Given the description of an element on the screen output the (x, y) to click on. 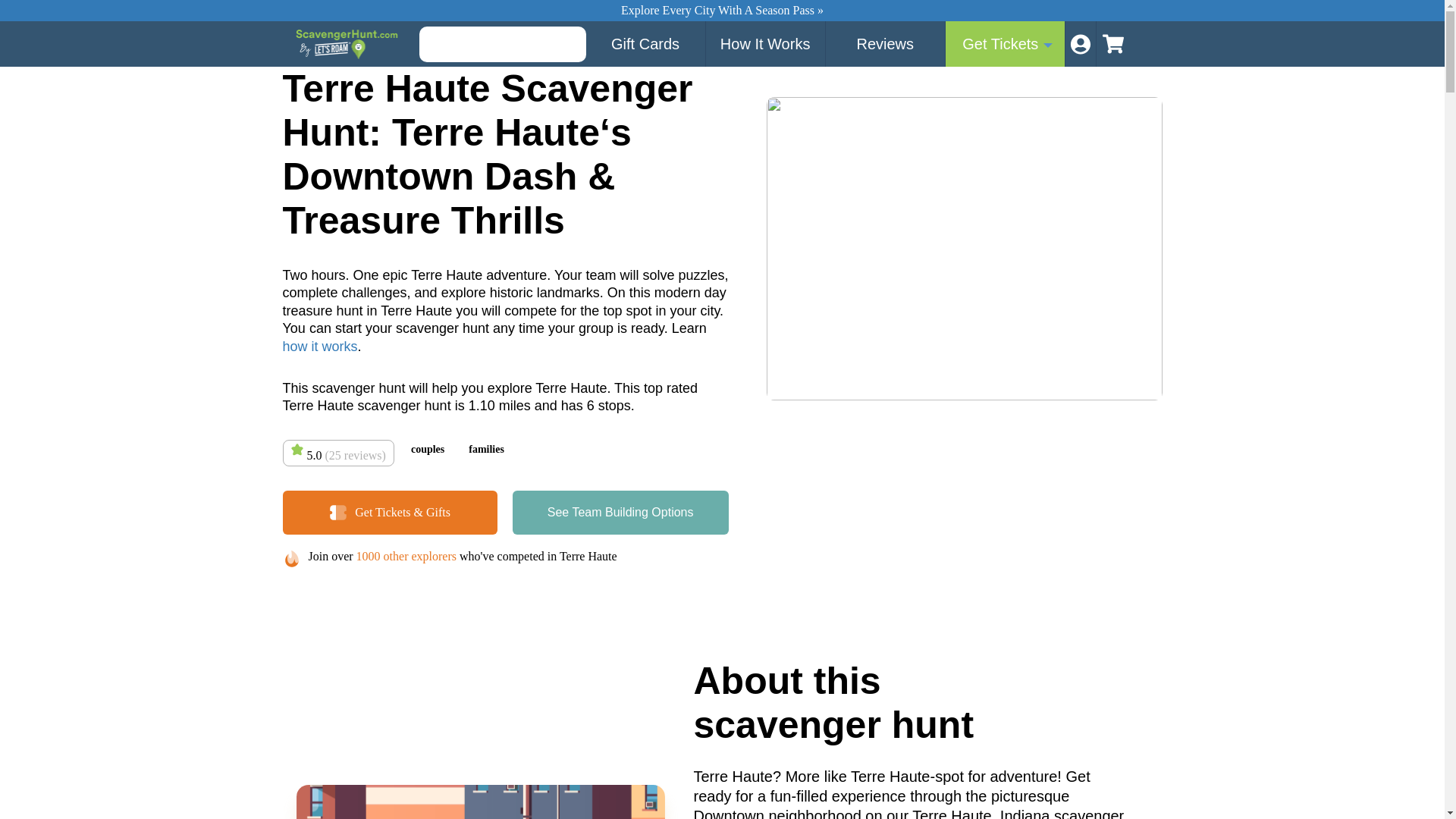
ScavengerHunt.com Scavenger Hunts by Let's Roam (348, 43)
Reviews (884, 43)
See Gift Options (644, 43)
Gift Cards (644, 43)
Get Tickets (1004, 43)
See Team Building Options (620, 512)
how it works (319, 346)
Get Scavenger Hunt Tickets (1004, 43)
Reviews (884, 43)
How It Works (765, 43)
